Given the description of an element on the screen output the (x, y) to click on. 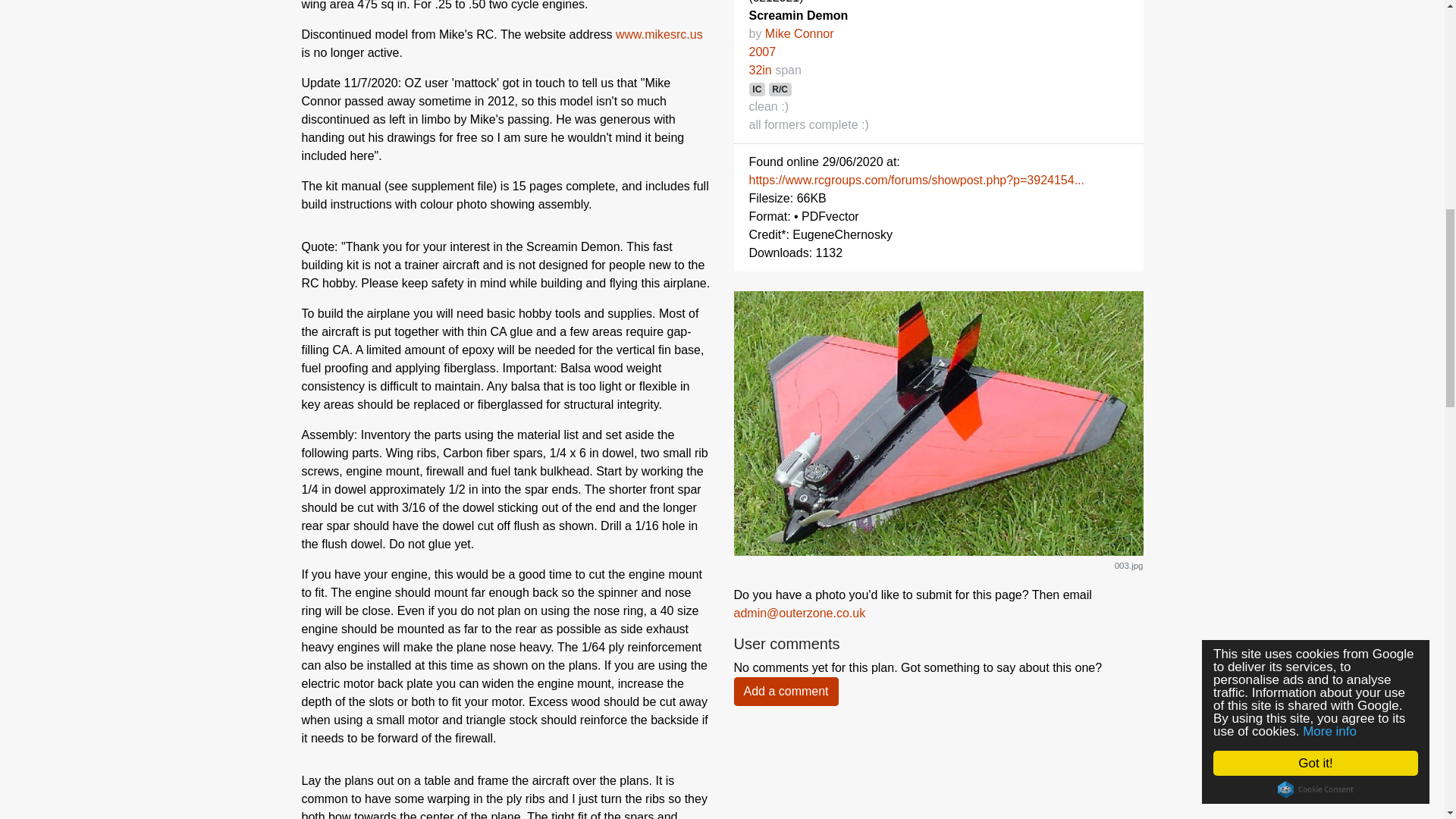
Mike Connor (799, 33)
32in (760, 69)
2007 (762, 51)
www.mikesrc.us (659, 33)
